Given the description of an element on the screen output the (x, y) to click on. 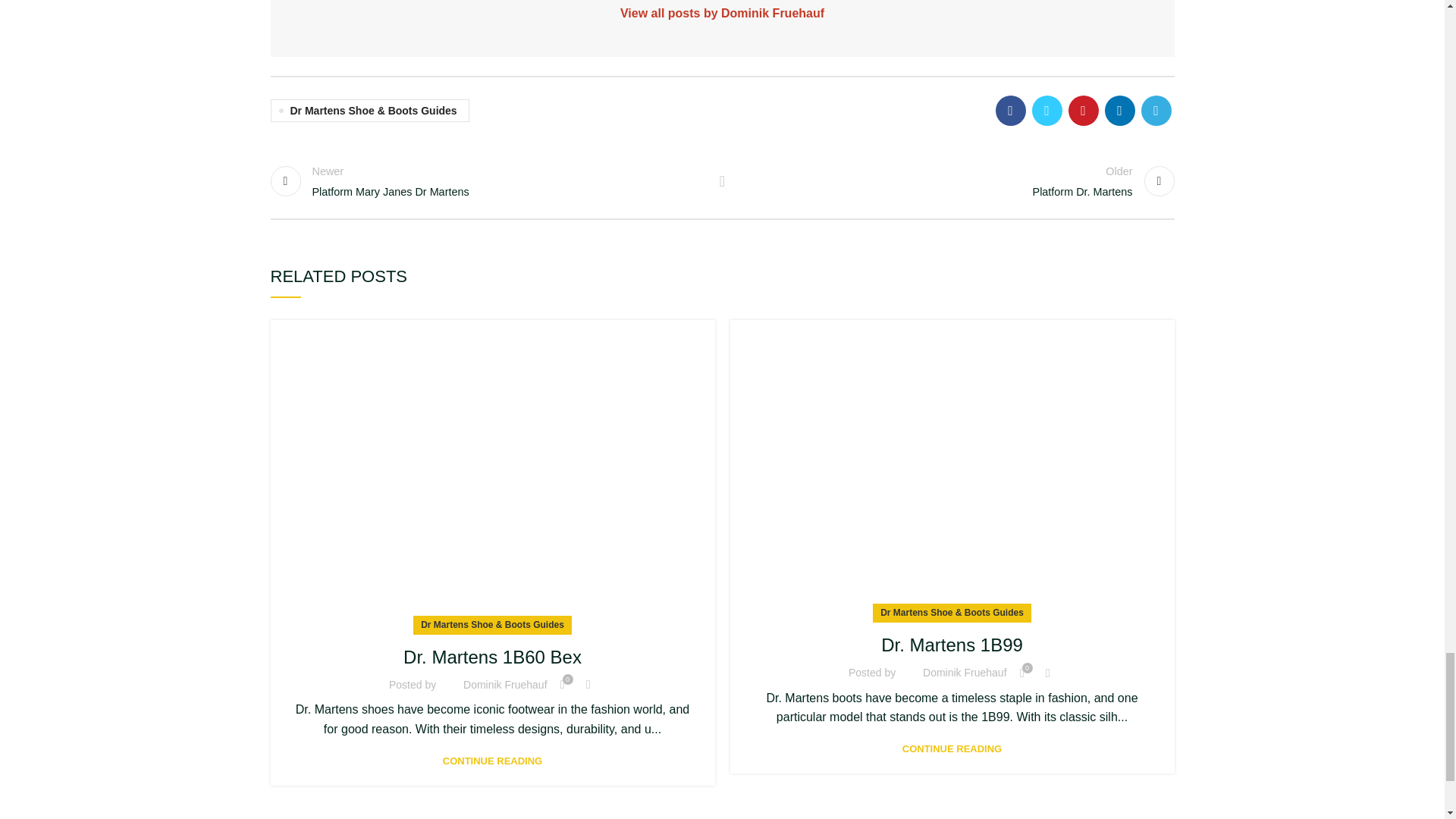
Dr. Martens 1B99 (488, 181)
Dr. Martens 1B60 Bex (955, 181)
Back to list (951, 466)
